Given the description of an element on the screen output the (x, y) to click on. 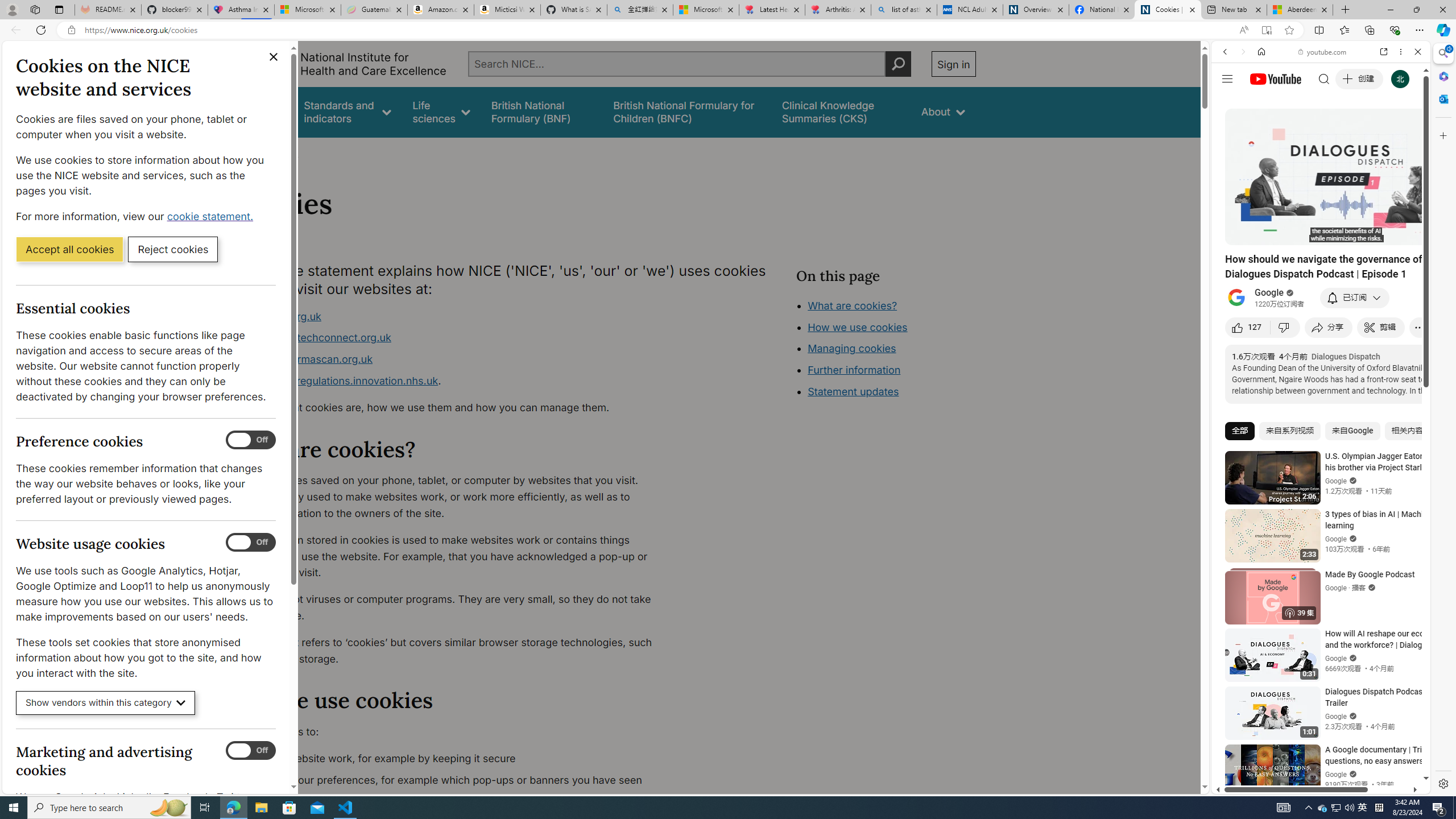
Close cookie banner (273, 56)
Managing cookies (852, 348)
www.nice.org.uk (279, 315)
